Given the description of an element on the screen output the (x, y) to click on. 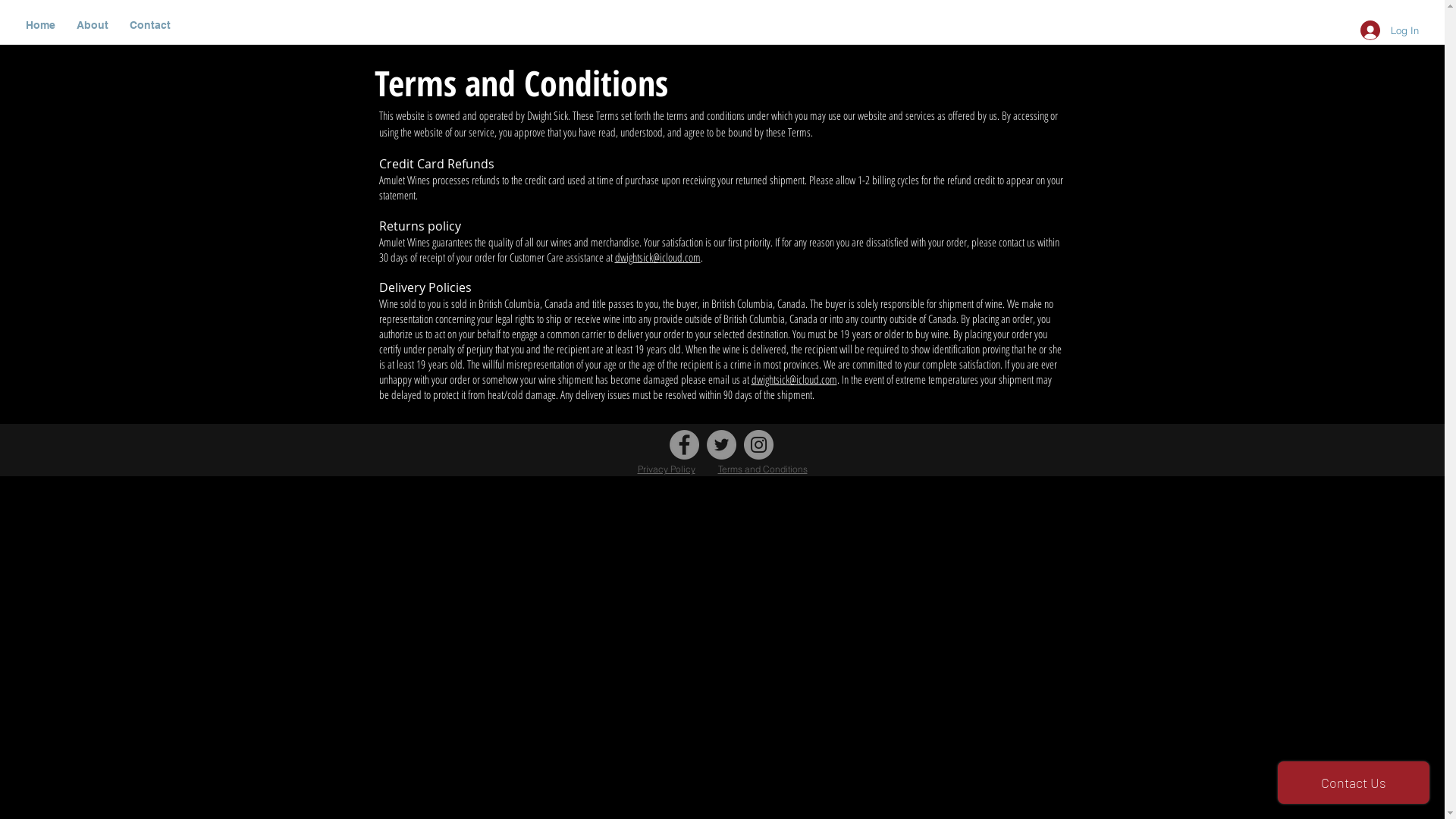
About Element type: text (92, 25)
dwightsick@icloud.com Element type: text (793, 378)
Contact Element type: text (150, 25)
Log In Element type: text (1389, 29)
Terms and Conditions Element type: text (761, 468)
dwightsick@icloud.com Element type: text (656, 256)
Home Element type: text (40, 25)
Privacy Policy Element type: text (665, 468)
